Given the description of an element on the screen output the (x, y) to click on. 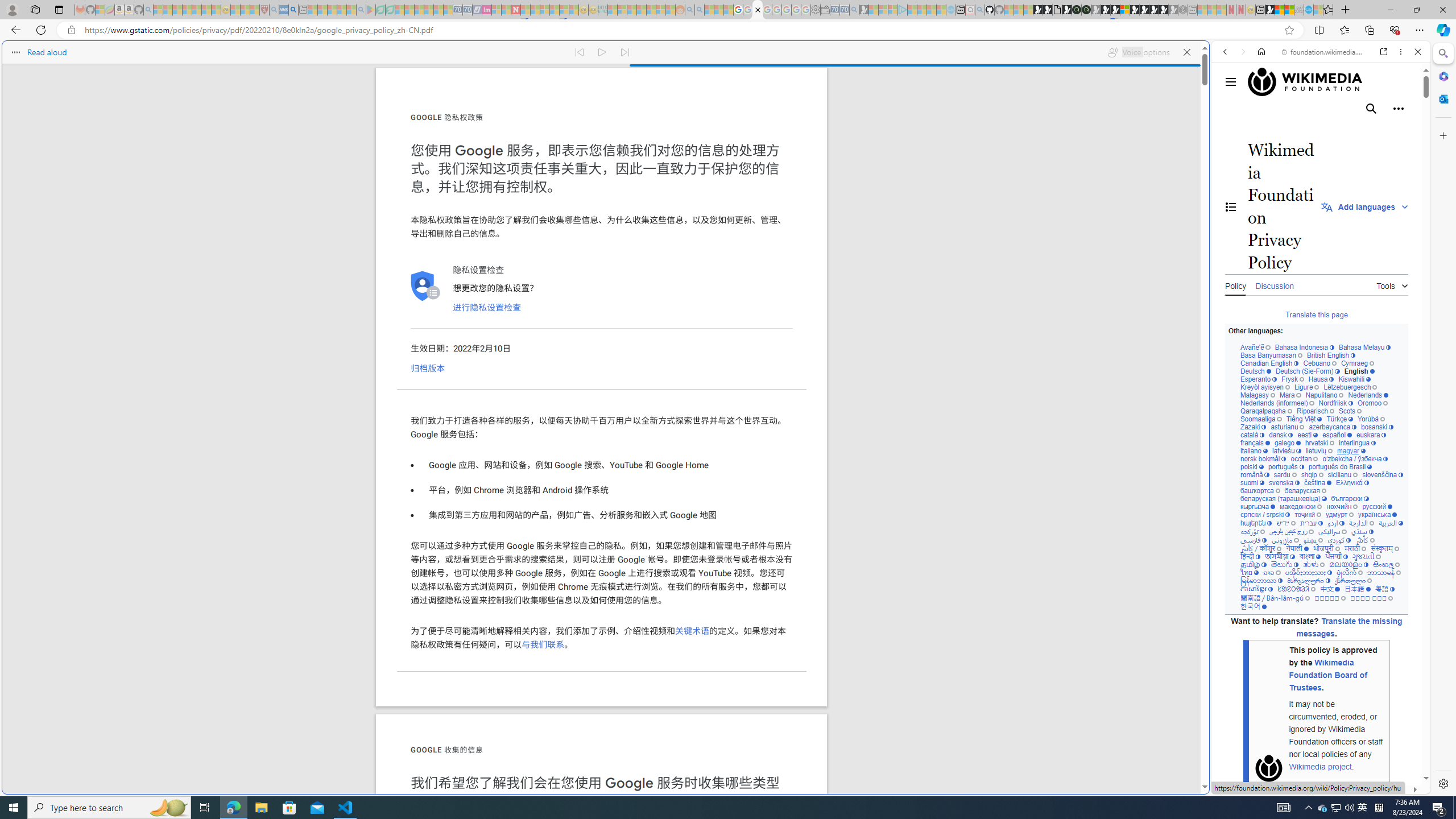
Bahasa Melayu (1364, 347)
Wikimedia project (1320, 766)
suomi (1252, 483)
Discussion (1274, 284)
Tabs you've opened (885, 151)
Deutsch (Sie-Form) (1307, 371)
Canadian English (1269, 363)
Nederlands (informeel) (1277, 403)
